Given the description of an element on the screen output the (x, y) to click on. 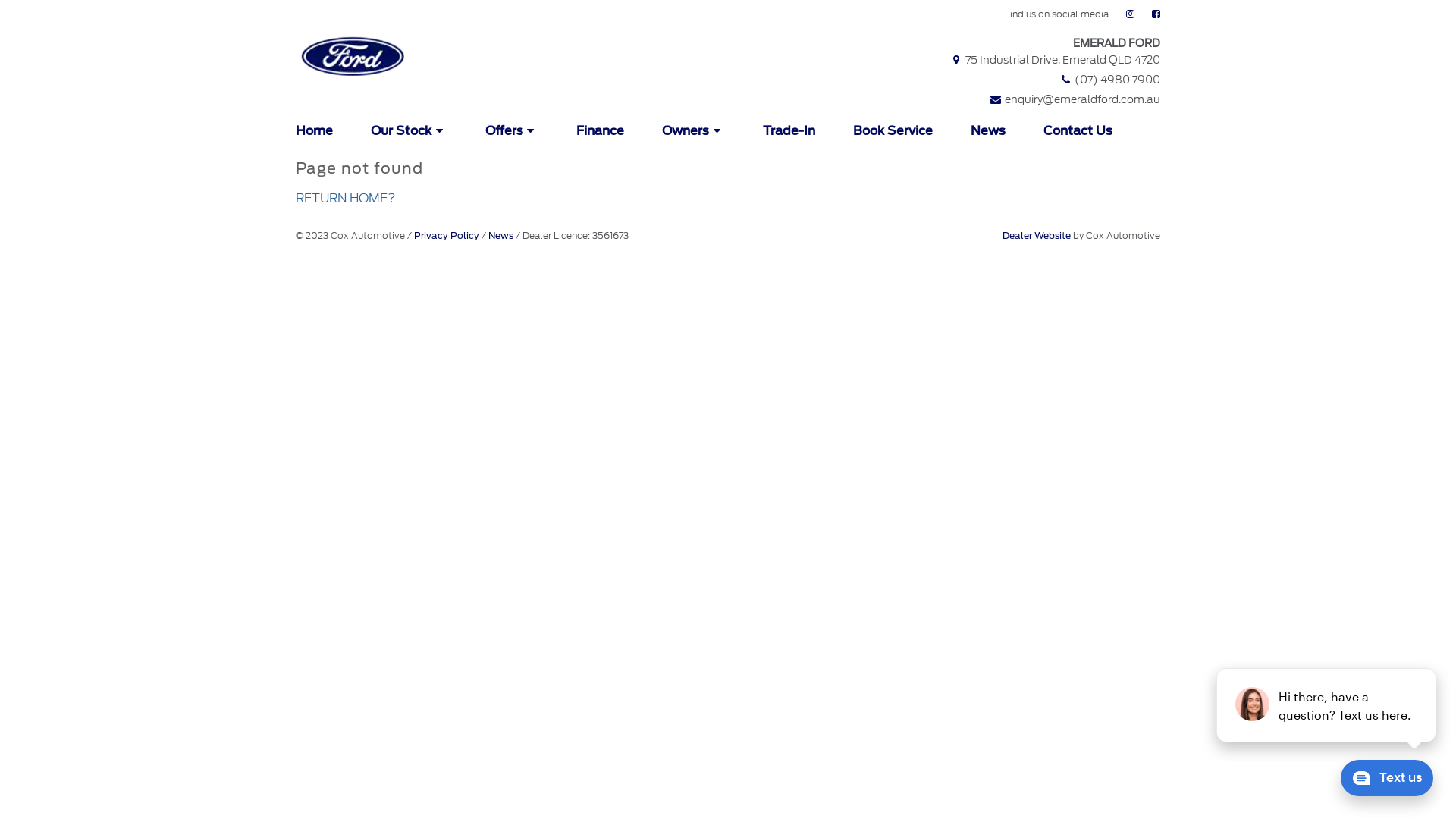
Owners Element type: text (693, 131)
Privacy Policy Element type: text (446, 235)
Home Element type: text (315, 131)
Offers Element type: text (512, 131)
News Element type: text (500, 235)
Book Service Element type: text (892, 131)
enquiry@emeraldford.com.au Element type: text (1074, 99)
(07) 4980 7900 Element type: text (1109, 80)
Our Stock Element type: text (408, 131)
Finance Element type: text (600, 131)
RETURN HOME? Element type: text (345, 198)
News Element type: text (987, 131)
Dealer Website Element type: text (1036, 235)
Facebook Element type: hover (1155, 14)
Contact Us Element type: text (1077, 131)
Trade-In Element type: text (788, 131)
Instagram Element type: hover (1130, 14)
75 Industrial Drive, Emerald QLD 4720 Element type: text (1054, 60)
